Given the description of an element on the screen output the (x, y) to click on. 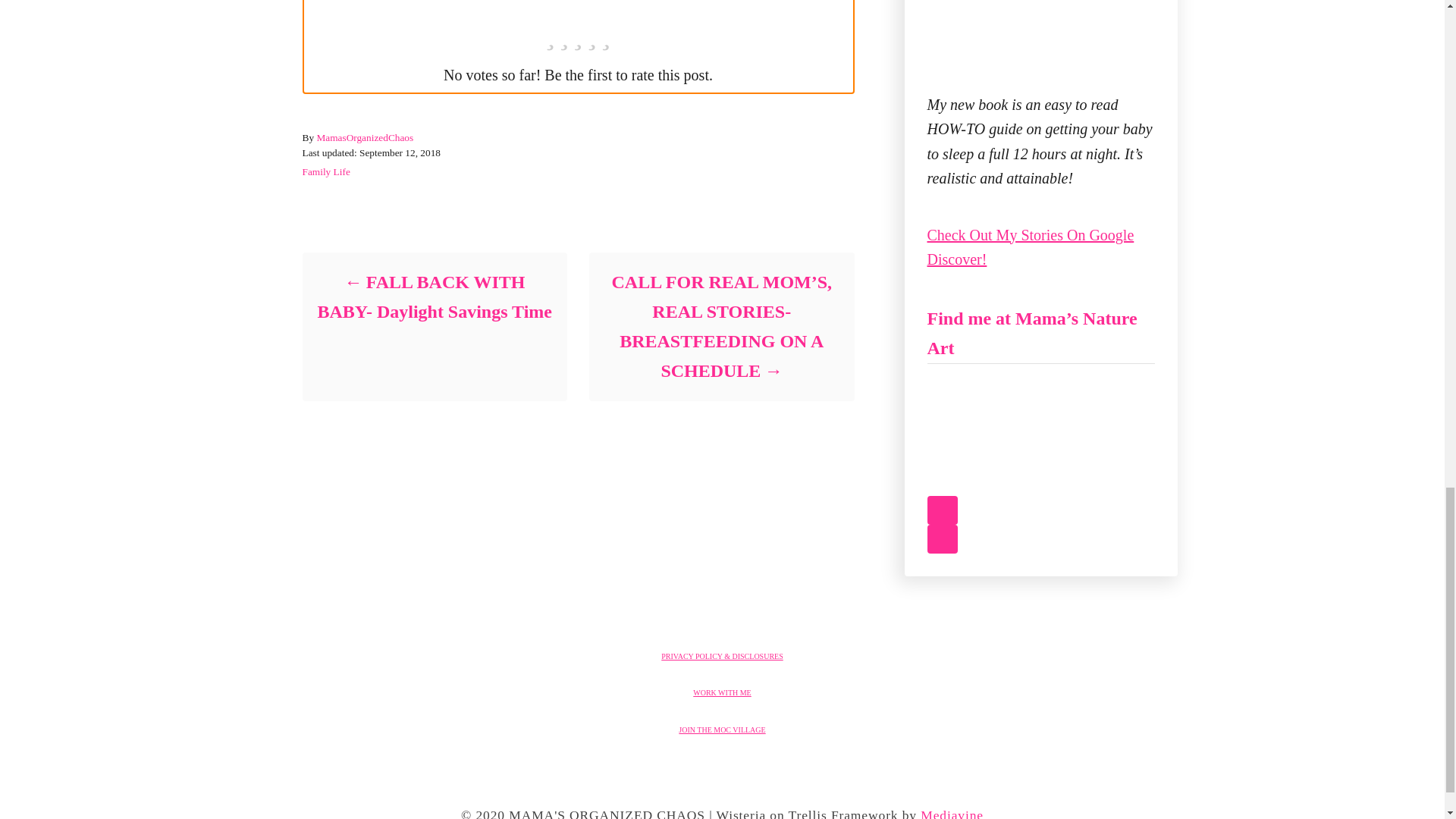
MamasOrganizedChaos (364, 137)
FALL BACK WITH BABY- Daylight Savings Time (434, 296)
Check Out My Stories On Google Discover! (1030, 246)
Family Life (325, 171)
